Given the description of an element on the screen output the (x, y) to click on. 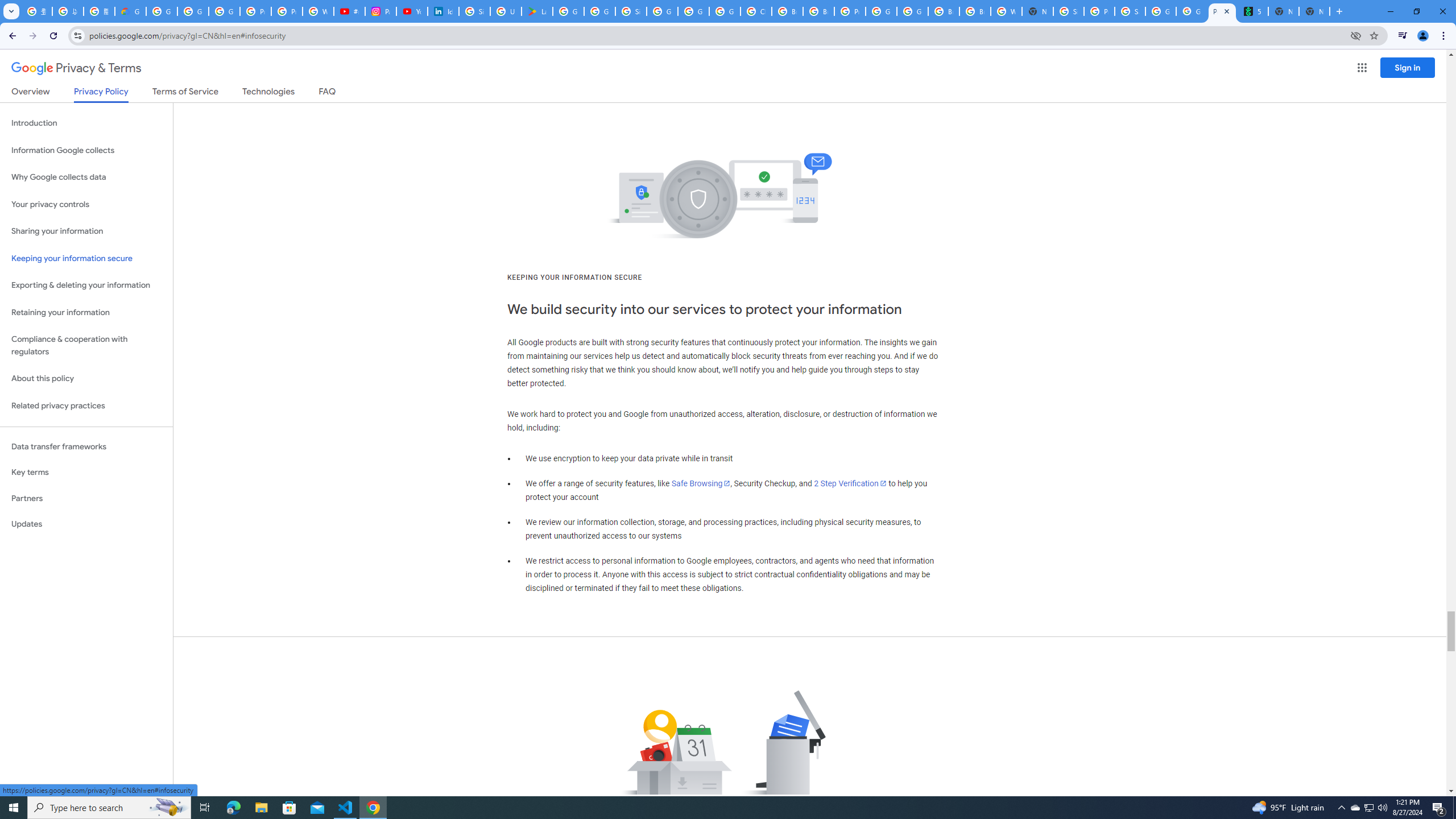
Privacy Help Center - Policies Help (286, 11)
Your privacy controls (86, 204)
Exporting & deleting your information (86, 284)
Sign in - Google Accounts (631, 11)
Google Workspace - Specific Terms (599, 11)
